Given the description of an element on the screen output the (x, y) to click on. 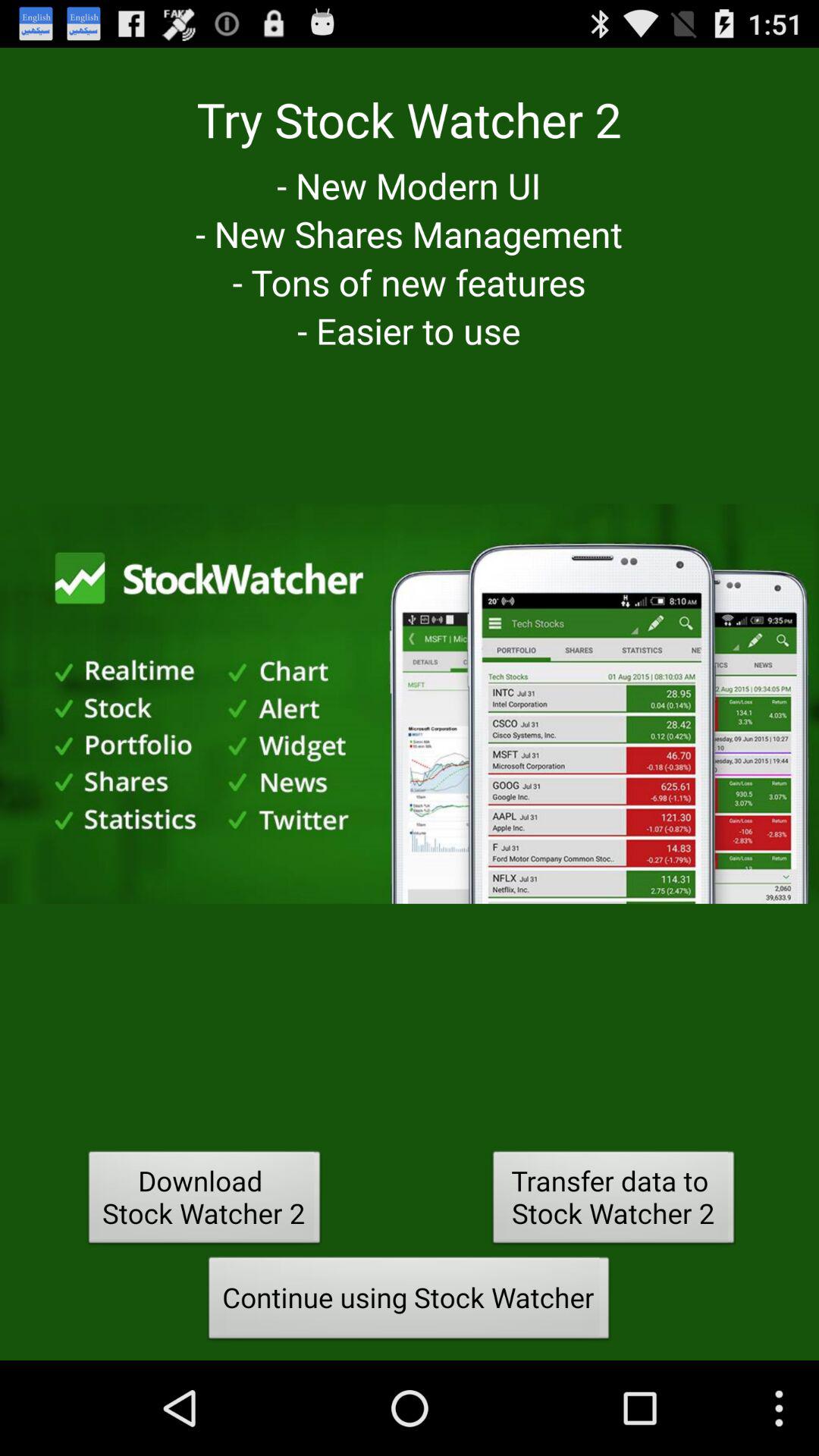
flip to the transfer data to button (613, 1201)
